Given the description of an element on the screen output the (x, y) to click on. 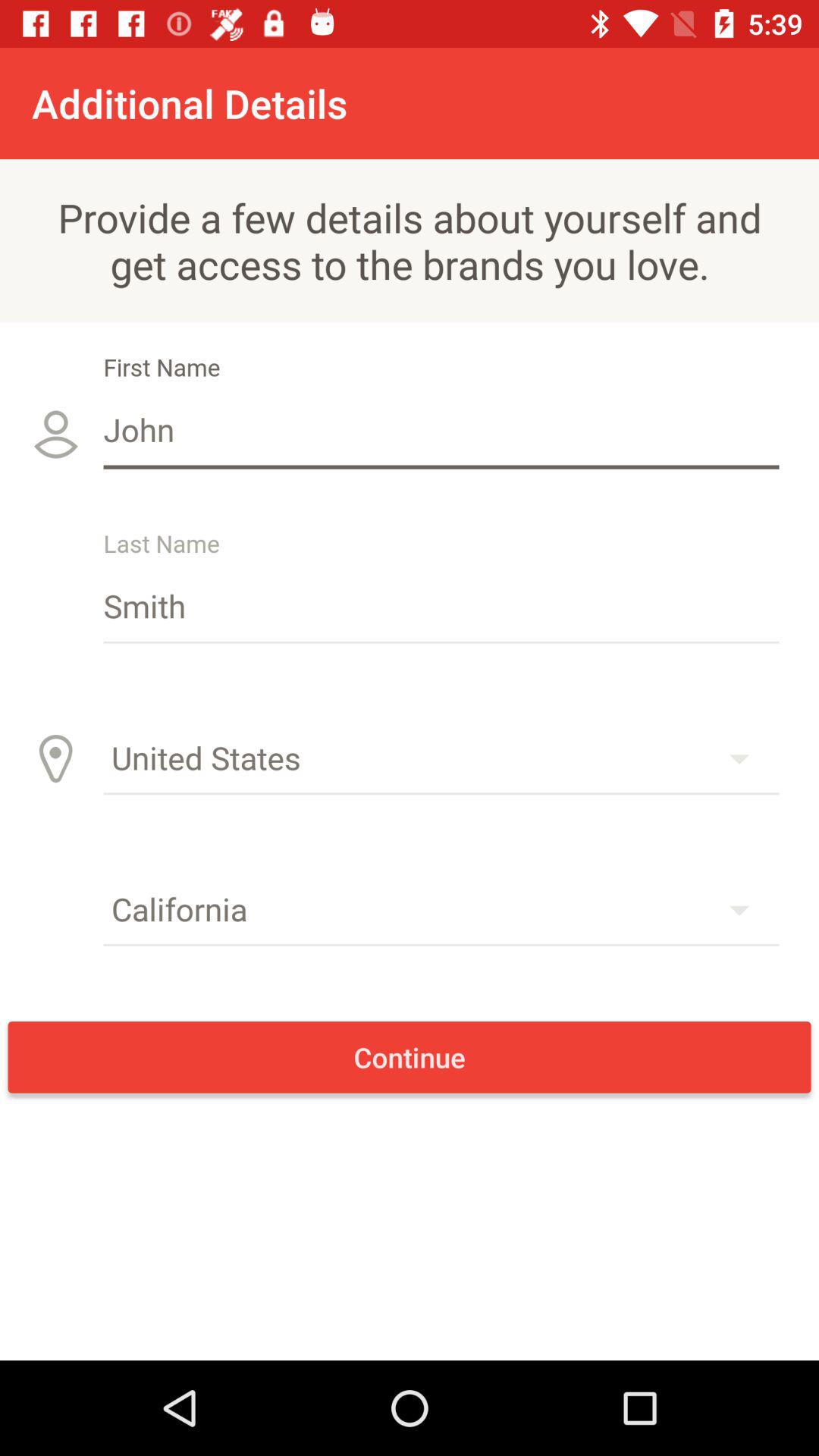
jump to the smith (441, 605)
